Given the description of an element on the screen output the (x, y) to click on. 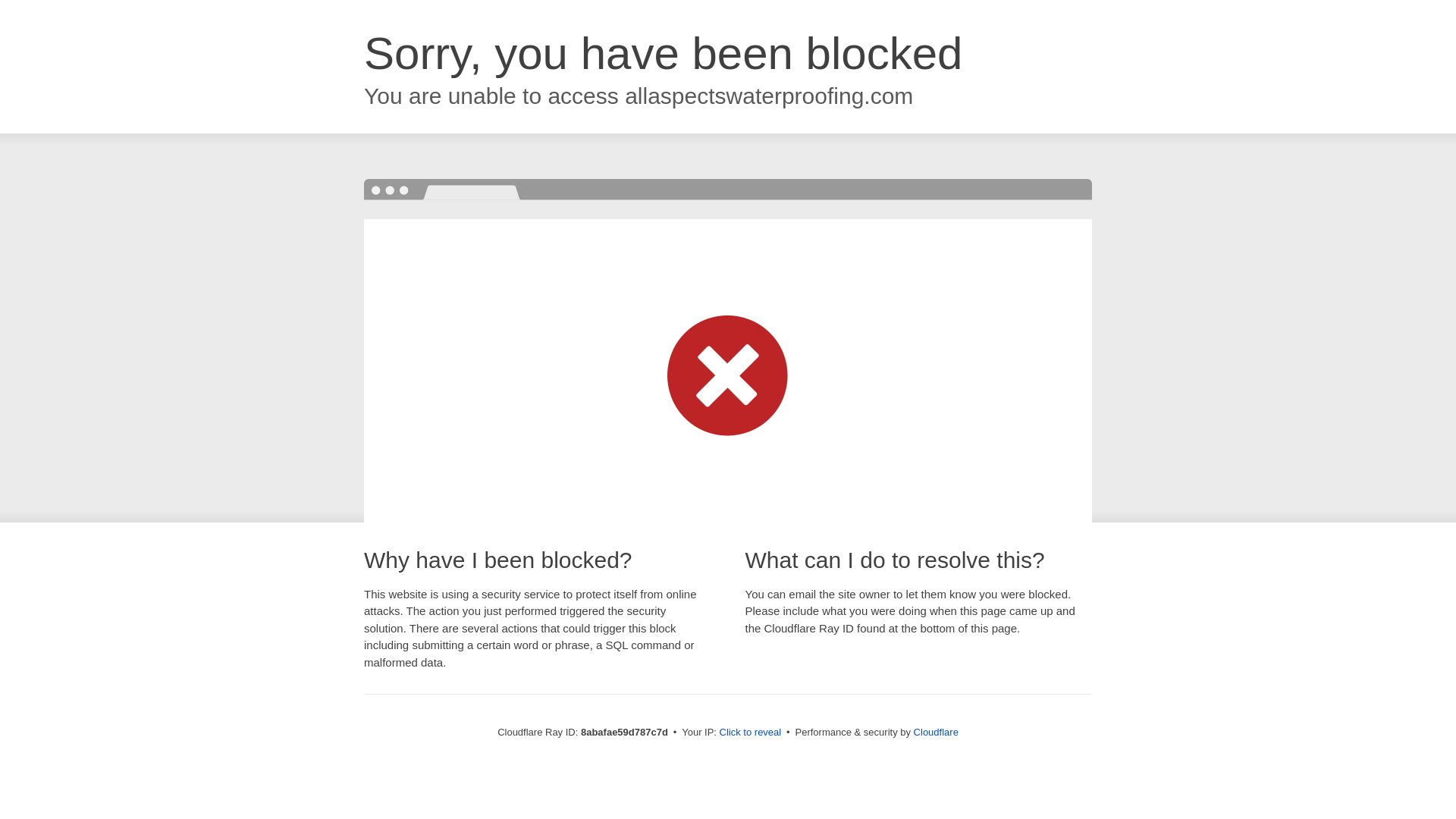
Click to reveal (750, 732)
Cloudflare (936, 731)
